Given the description of an element on the screen output the (x, y) to click on. 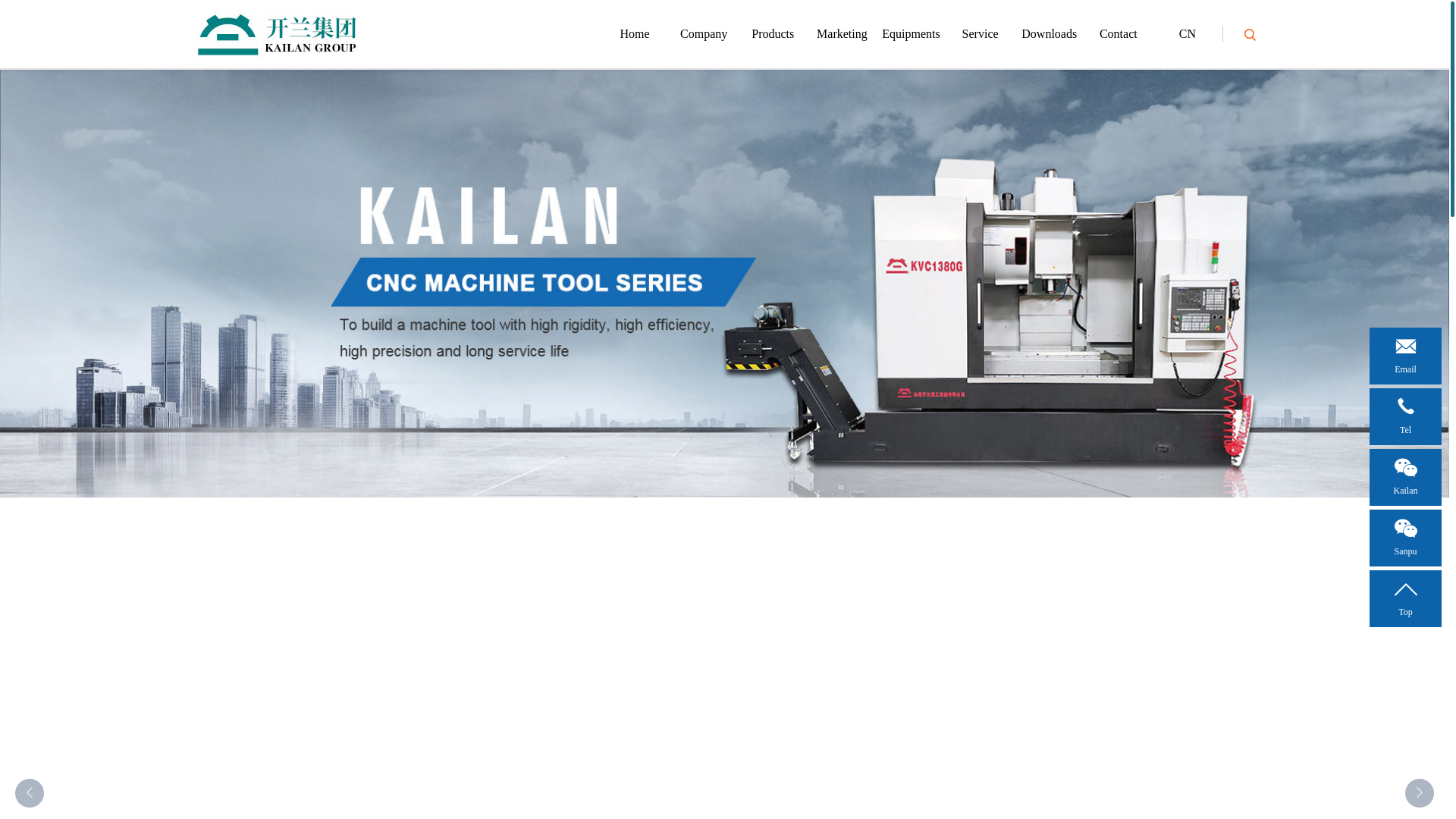
Contact (1118, 33)
Marketing (842, 33)
Products (773, 33)
CN (1187, 33)
Service (979, 33)
Home (634, 33)
Equipments (910, 33)
Company (703, 33)
Downloads (1048, 33)
